Given the description of an element on the screen output the (x, y) to click on. 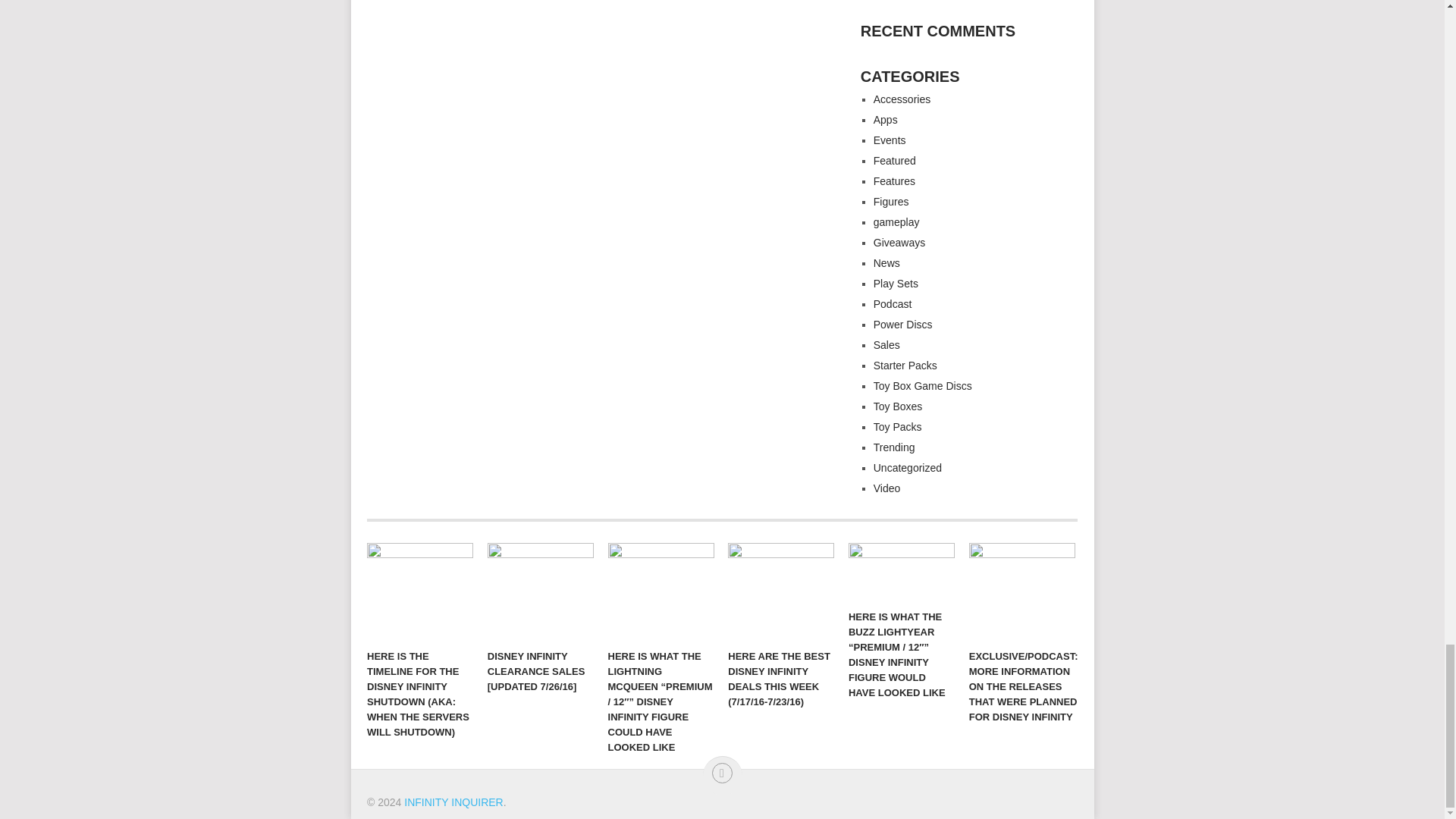
gameplay (896, 222)
Events (889, 140)
Accessories (901, 99)
Giveaways (898, 242)
Play Sets (895, 283)
News (886, 263)
Featured (894, 160)
Features (894, 181)
Podcast (892, 304)
Figures (890, 201)
